Given the description of an element on the screen output the (x, y) to click on. 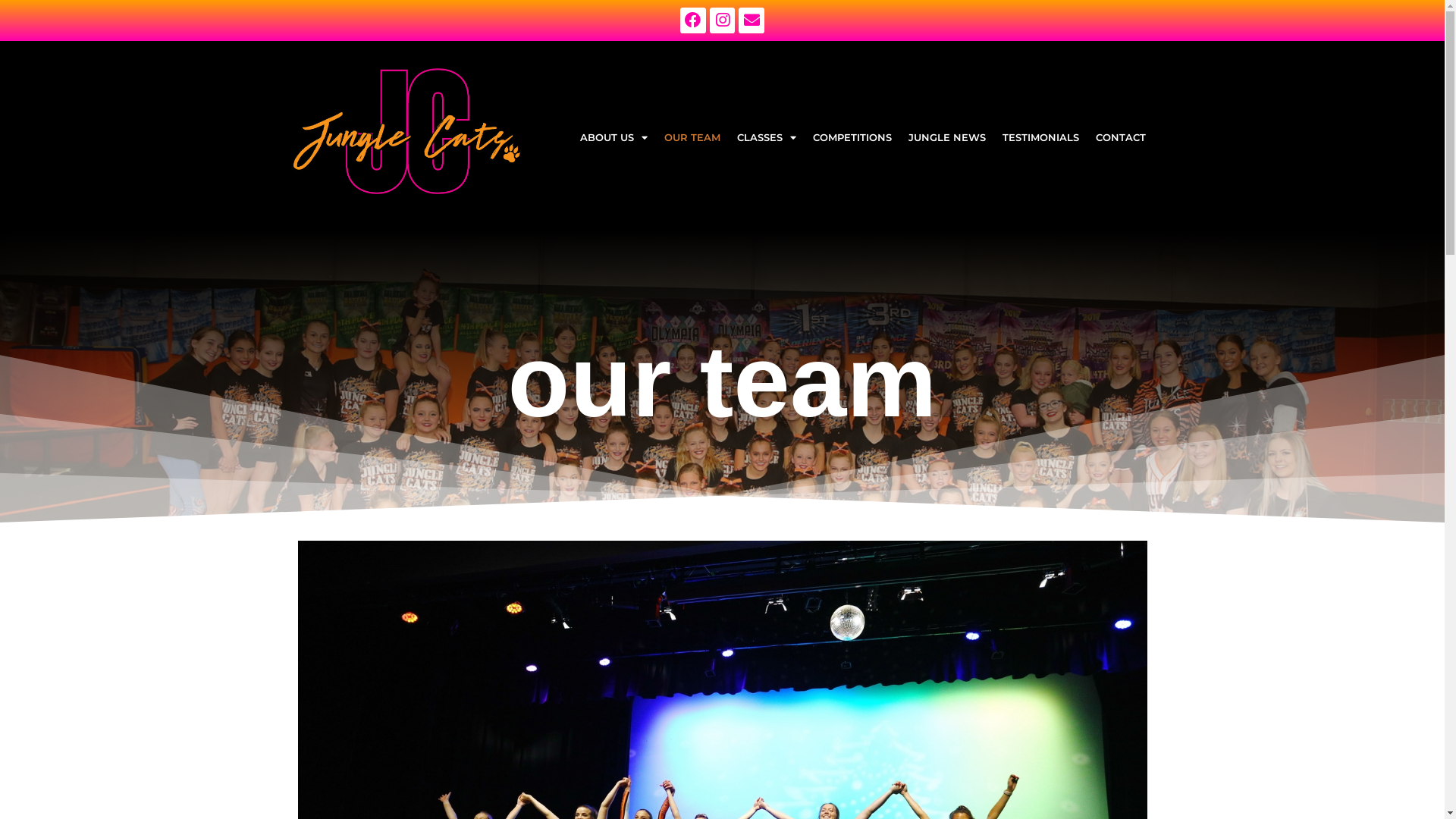
ABOUT US Element type: text (613, 137)
CLASSES Element type: text (766, 137)
JUNGLE NEWS Element type: text (947, 137)
Facebook Element type: text (693, 20)
Instagram Element type: text (722, 20)
Envelope Element type: text (751, 20)
COMPETITIONS Element type: text (852, 137)
CONTACT Element type: text (1120, 137)
OUR TEAM Element type: text (691, 137)
TESTIMONIALS Element type: text (1040, 137)
